Given the description of an element on the screen output the (x, y) to click on. 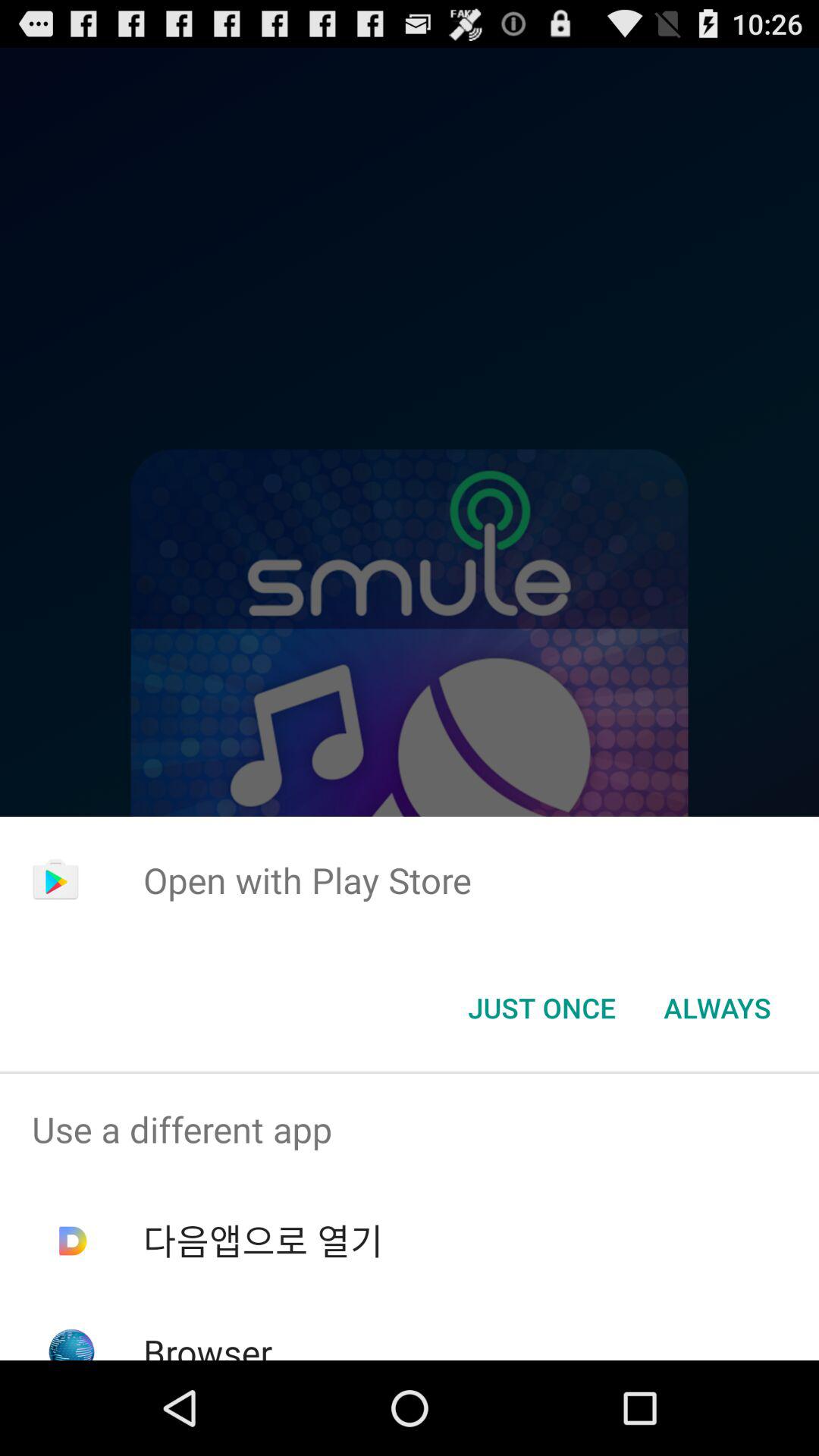
click icon above browser app (263, 1240)
